Given the description of an element on the screen output the (x, y) to click on. 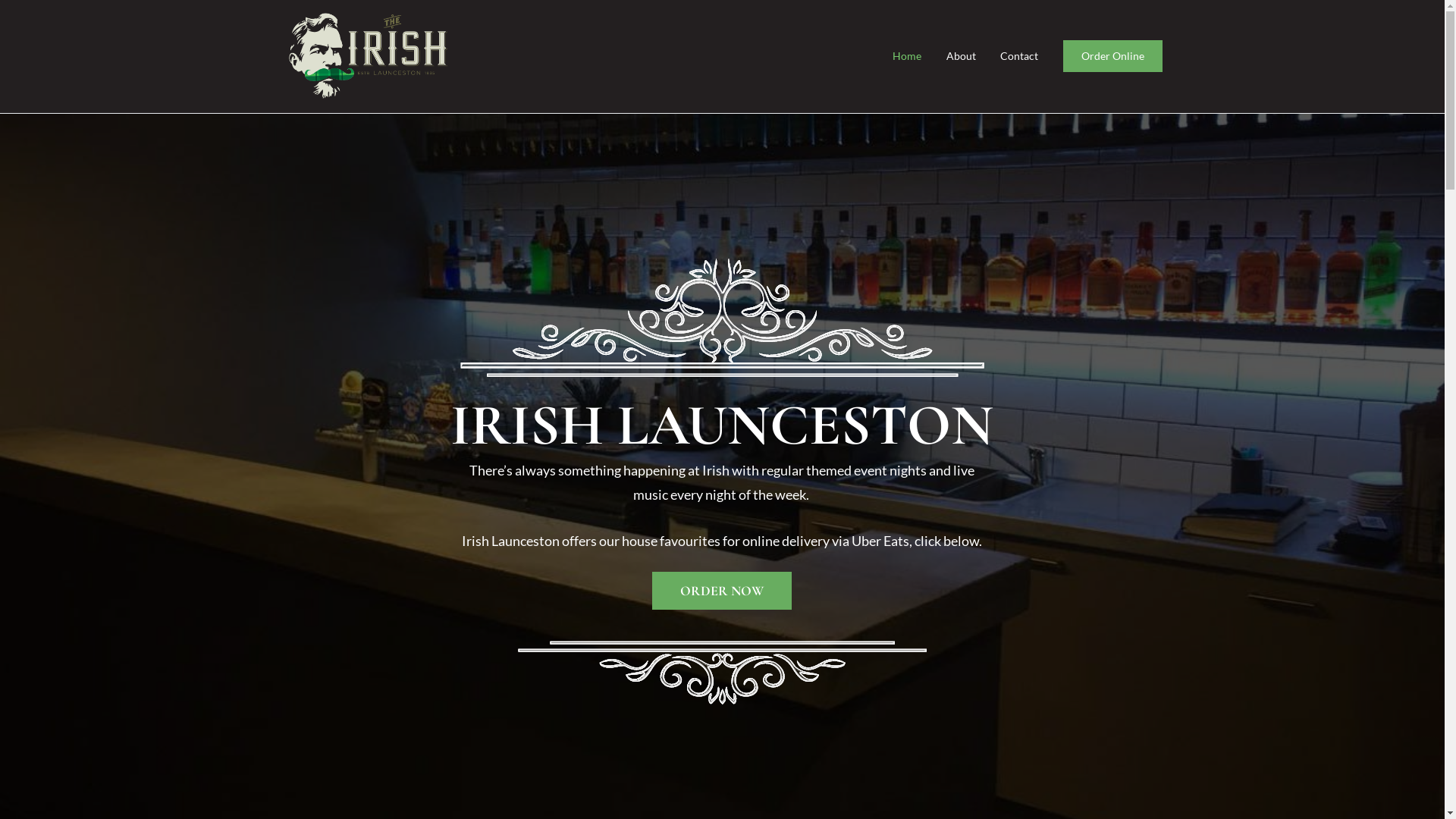
Irish Launceston Element type: text (528, 66)
ORDER NOW Element type: text (721, 590)
Home Element type: text (906, 55)
Contact Element type: text (1019, 55)
About Element type: text (960, 55)
Order Online Element type: text (1112, 56)
